Given the description of an element on the screen output the (x, y) to click on. 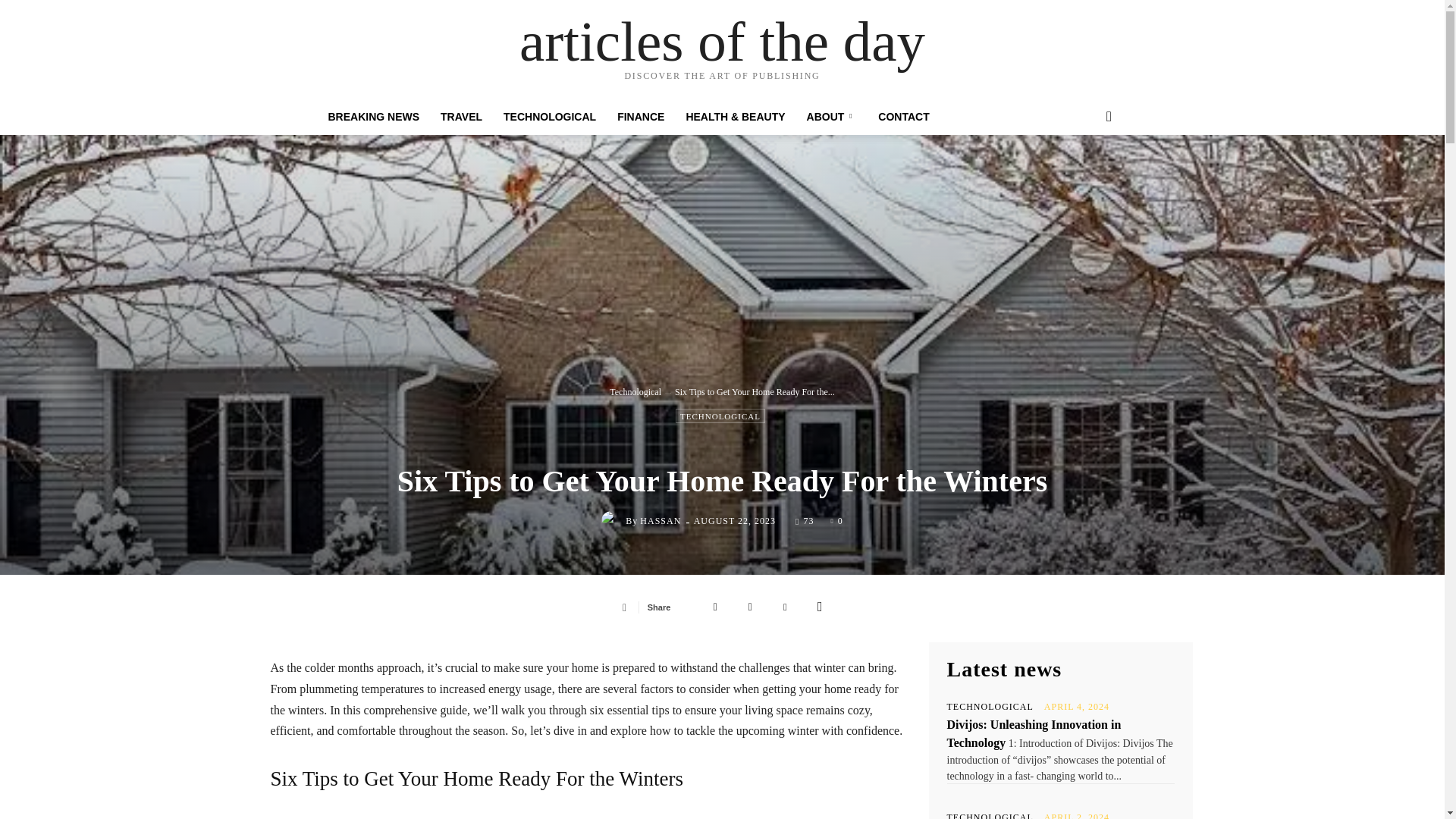
HASSAN (660, 520)
CONTACT (903, 116)
ABOUT (831, 116)
TECHNOLOGICAL (720, 415)
articles of the day (721, 41)
Pinterest (784, 606)
Twitter (750, 606)
FINANCE (641, 116)
hassan (613, 520)
BREAKING NEWS (373, 116)
Facebook (715, 606)
TECHNOLOGICAL (550, 116)
View all posts in Technological (635, 391)
Technological (635, 391)
WhatsApp (819, 606)
